Given the description of an element on the screen output the (x, y) to click on. 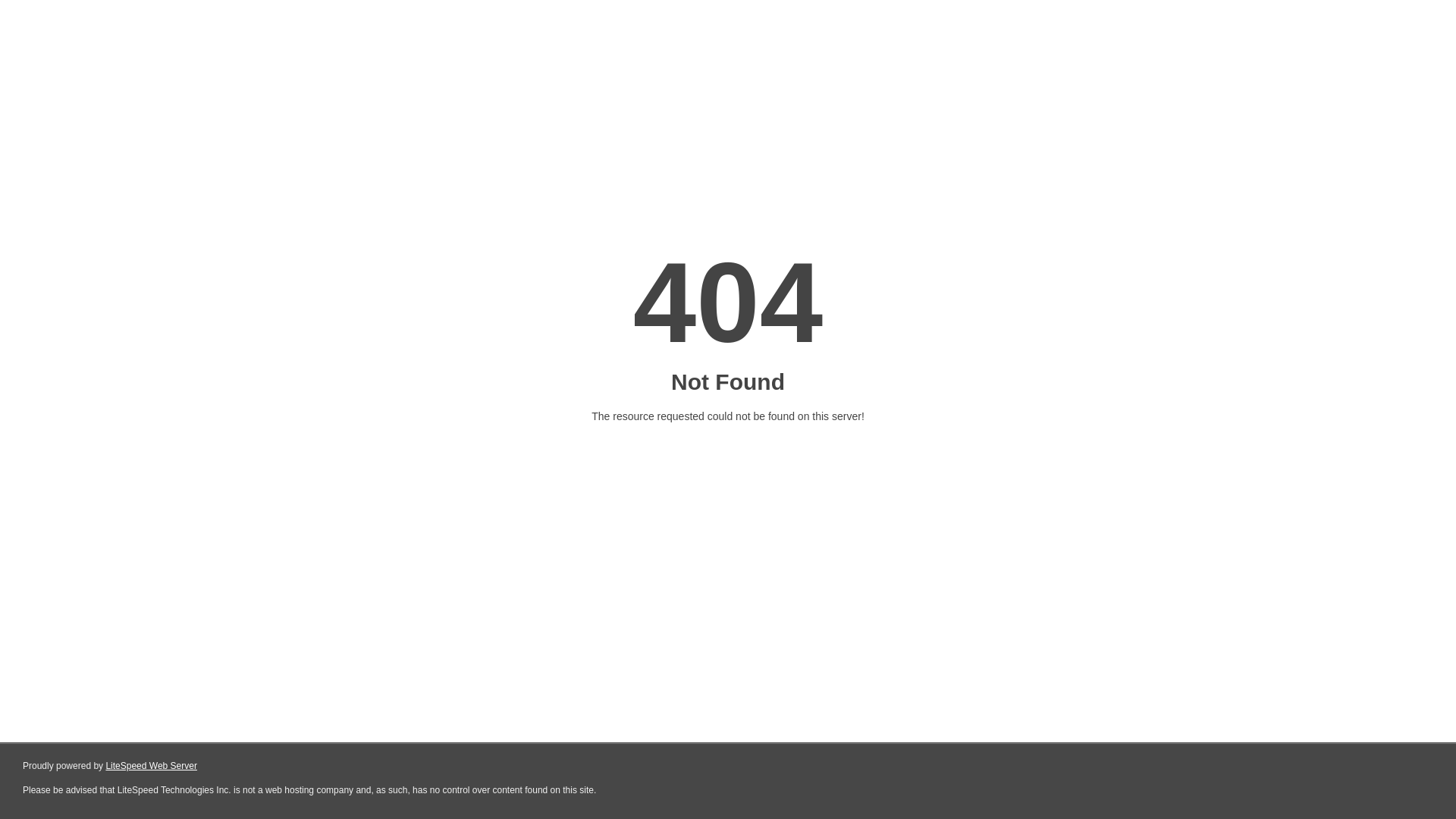
LiteSpeed Web Server Element type: text (151, 765)
